Given the description of an element on the screen output the (x, y) to click on. 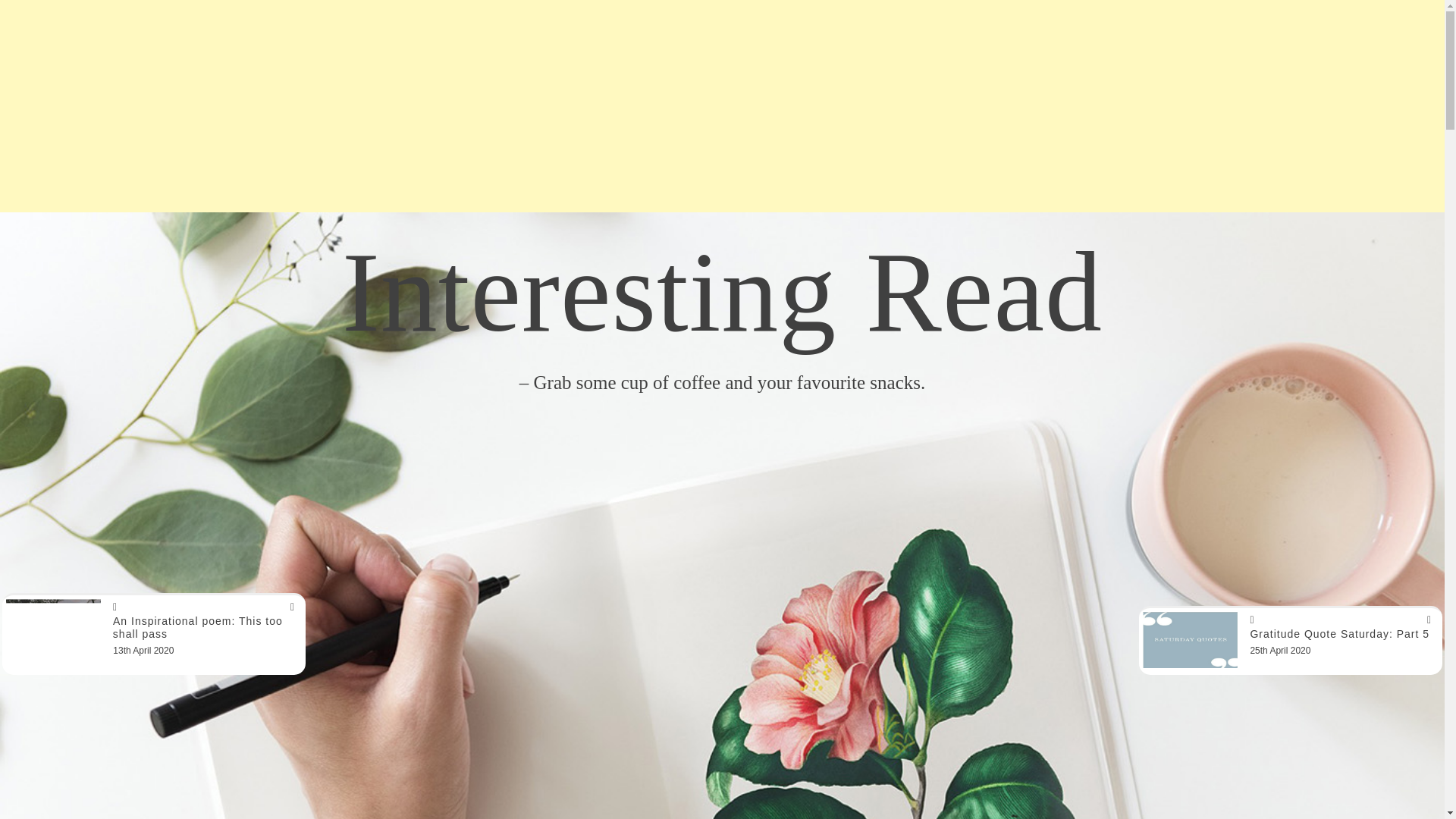
Interesting Read (722, 291)
